Given the description of an element on the screen output the (x, y) to click on. 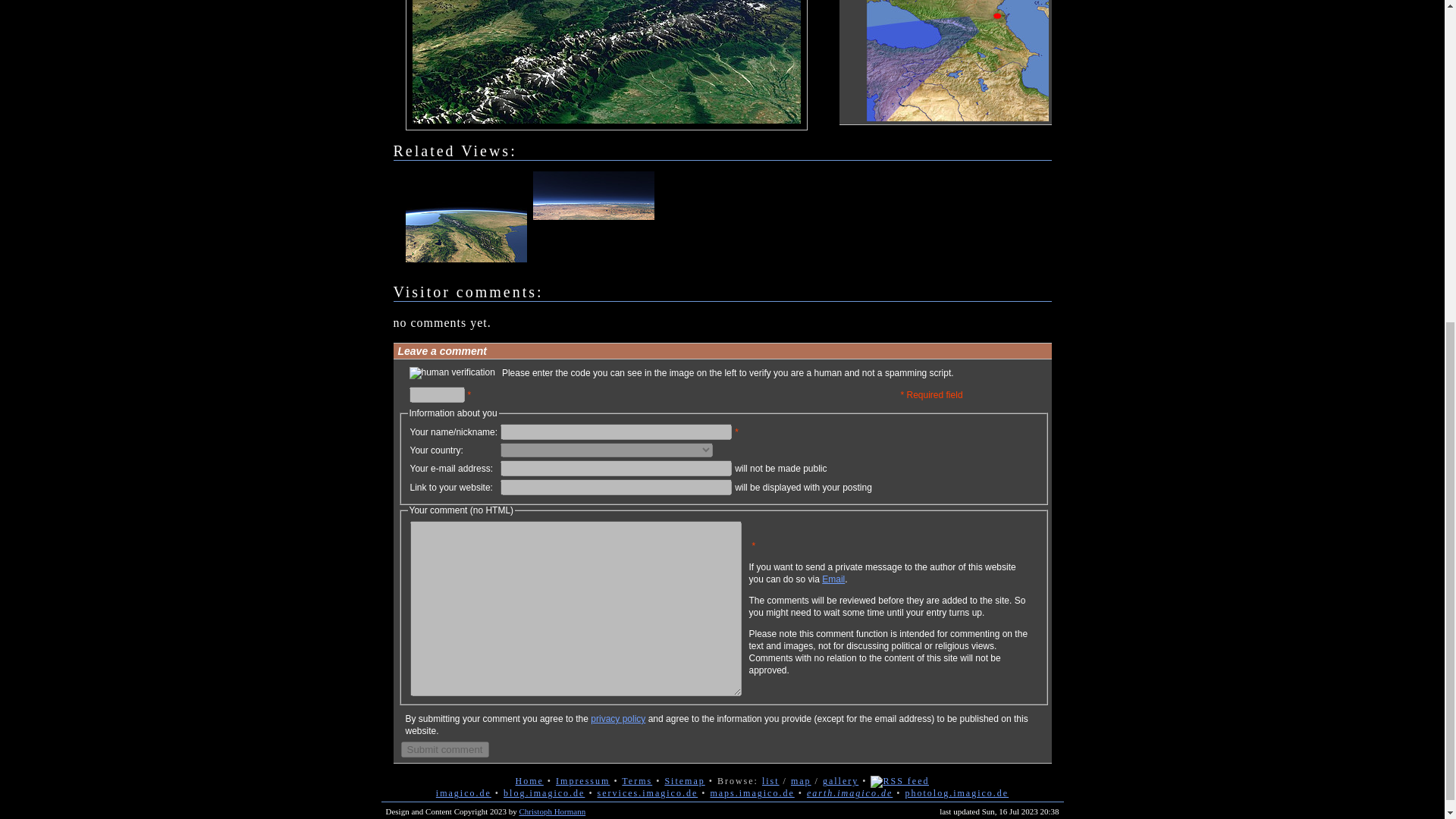
Submit comment (443, 749)
Home (529, 780)
services.imagico.de (647, 792)
imagico.de (463, 792)
blog.imagico.de (544, 792)
earth.imagico.de (849, 792)
privacy policy (618, 718)
map (800, 780)
Sitemap (683, 780)
photolog.imagico.de (956, 792)
